Given the description of an element on the screen output the (x, y) to click on. 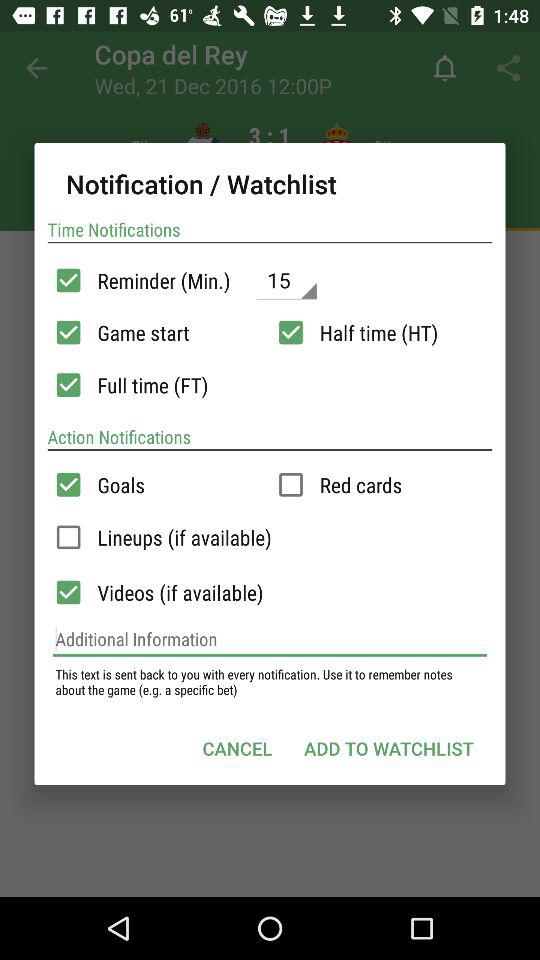
turn off game start notification (68, 332)
